Given the description of an element on the screen output the (x, y) to click on. 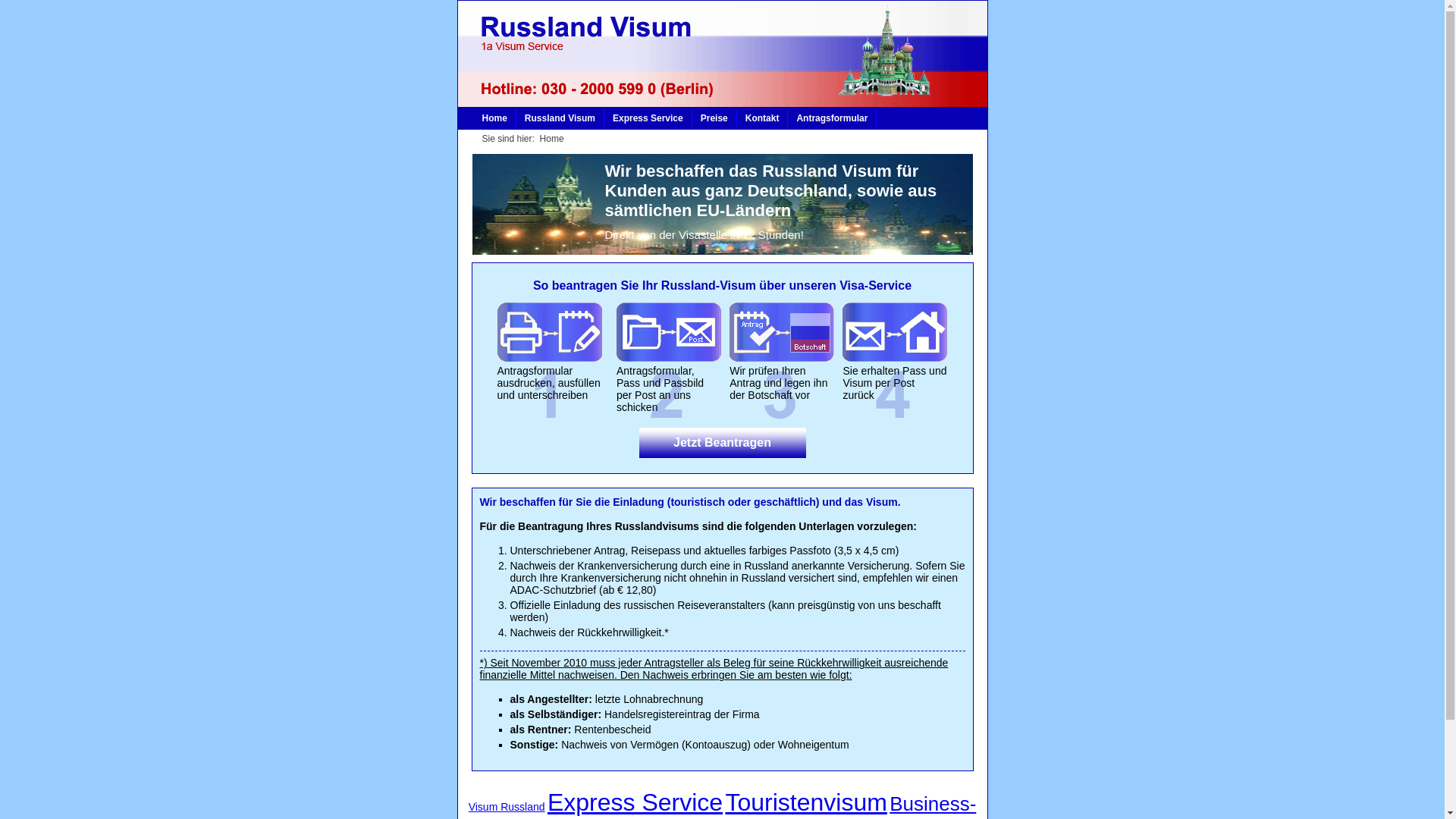
Touristenvisum Element type: text (805, 801)
Express Service Element type: text (634, 801)
Visum Russland Element type: text (506, 806)
Preise Element type: text (714, 118)
Sie sind hier:   Element type: text (510, 138)
Kontakt Element type: text (762, 118)
Jetzt Beantragen Element type: text (721, 442)
Russland Visum beantragen Element type: hover (721, 442)
Russland Visum Element type: text (560, 118)
Antragsformular Element type: text (831, 118)
Home Element type: text (494, 118)
Express Service Element type: text (648, 118)
